Given the description of an element on the screen output the (x, y) to click on. 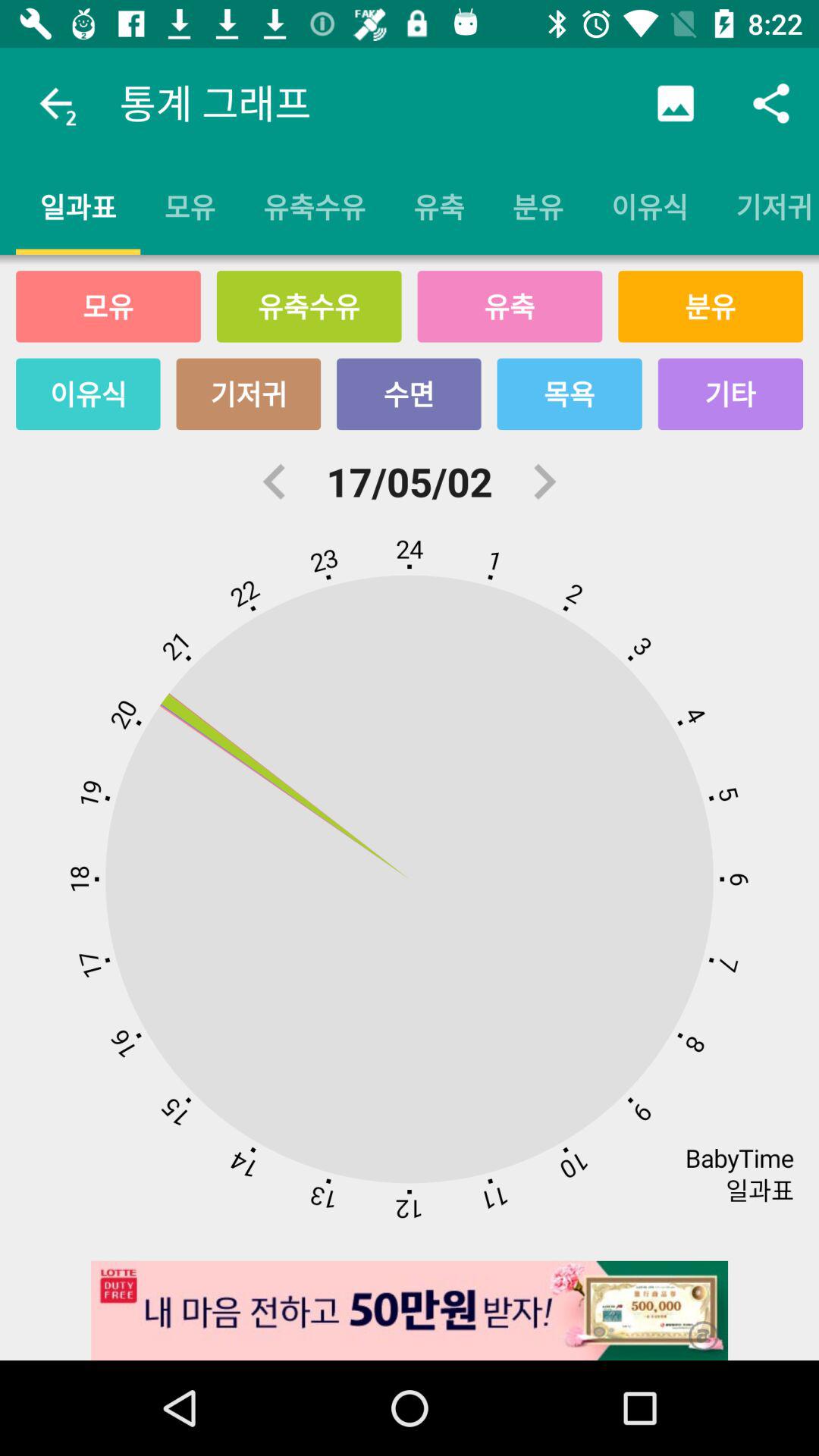
tap item next to the 17/05/02 icon (544, 481)
